Given the description of an element on the screen output the (x, y) to click on. 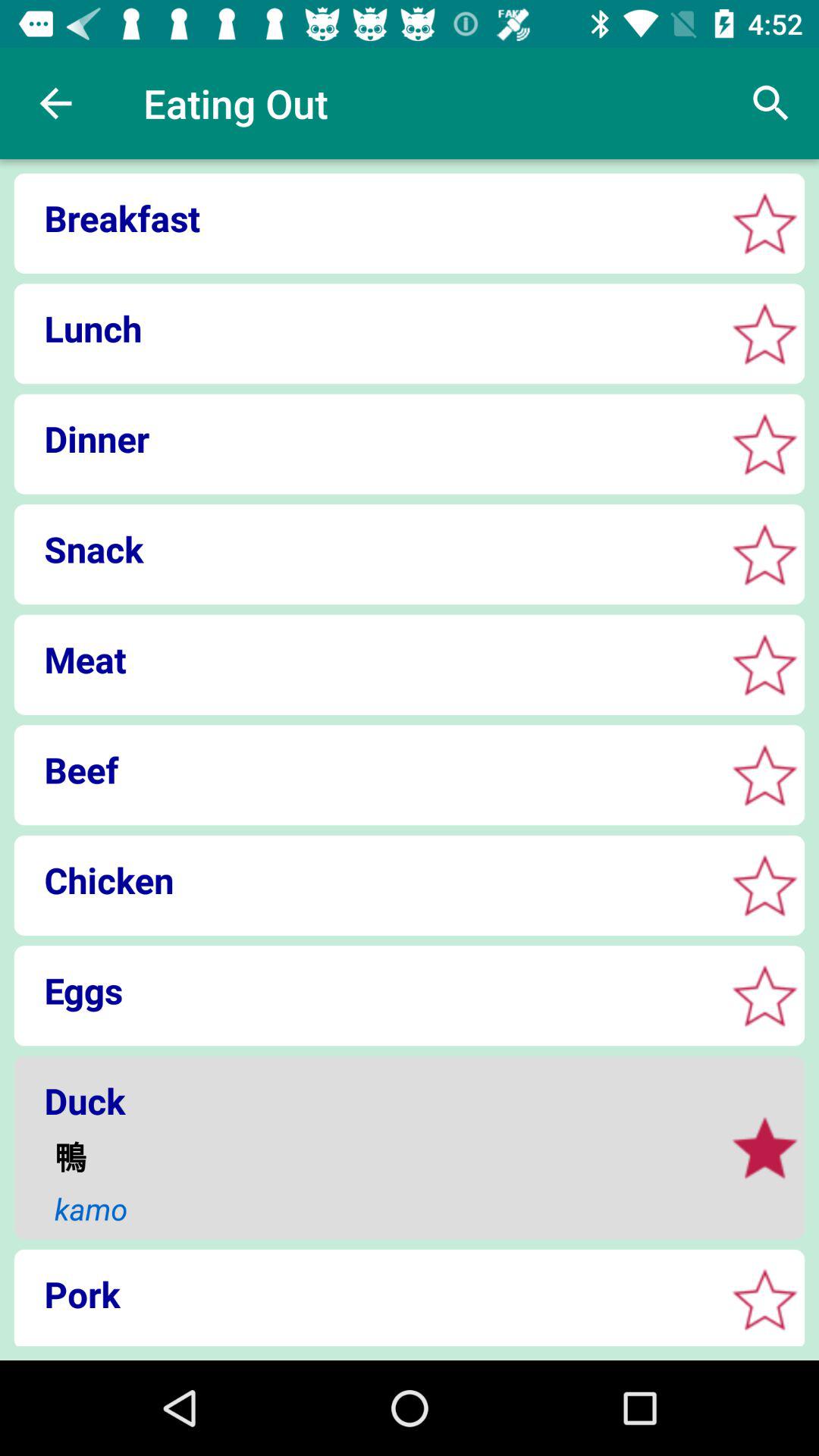
chooses the meat selection (764, 664)
